Given the description of an element on the screen output the (x, y) to click on. 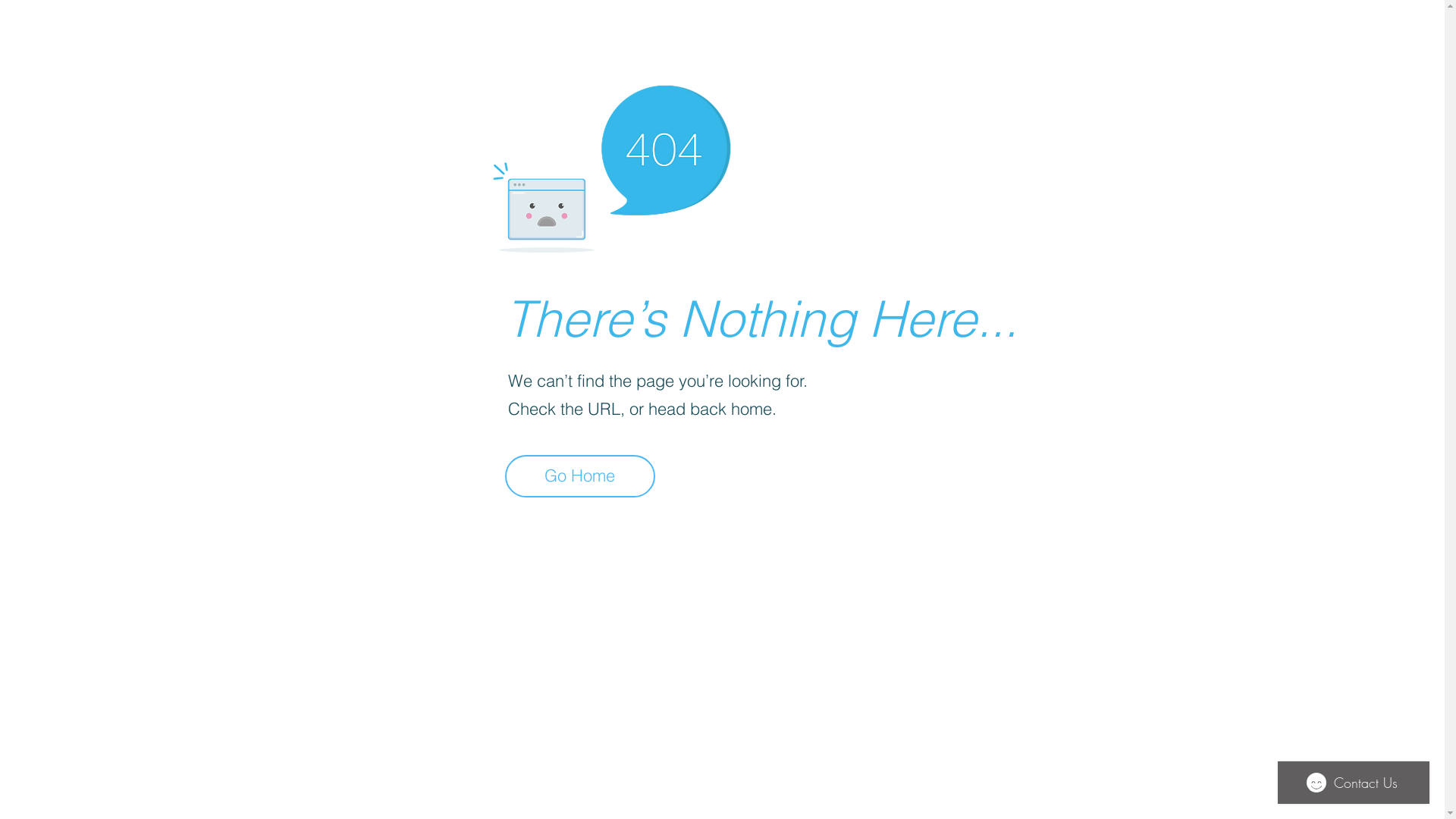
404-icon_2.png Element type: hover (610, 164)
Go Home Element type: text (580, 476)
